Given the description of an element on the screen output the (x, y) to click on. 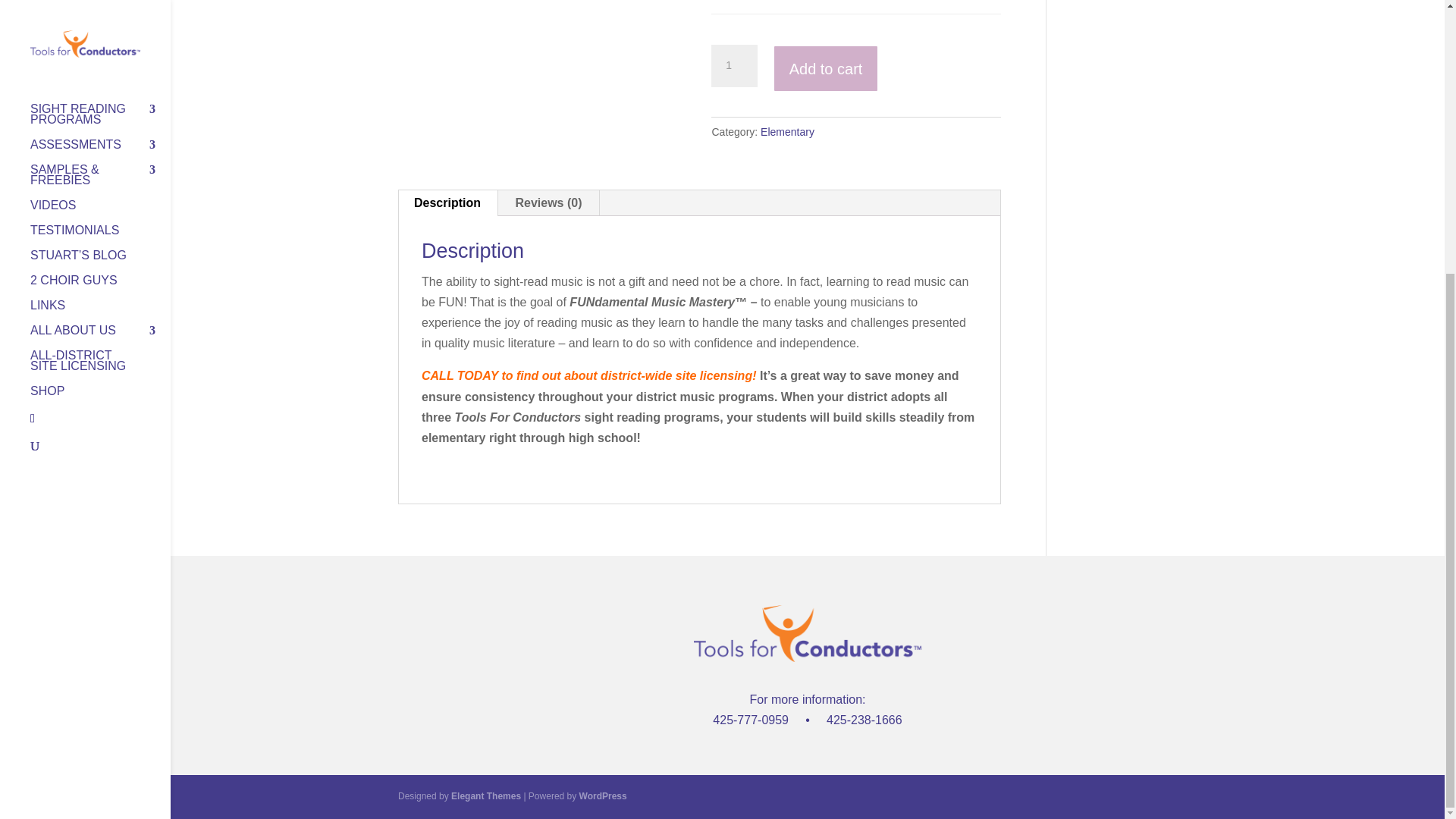
1 (734, 65)
Qty (734, 65)
SHOP (100, 4)
Premium WordPress Themes (486, 796)
